Given the description of an element on the screen output the (x, y) to click on. 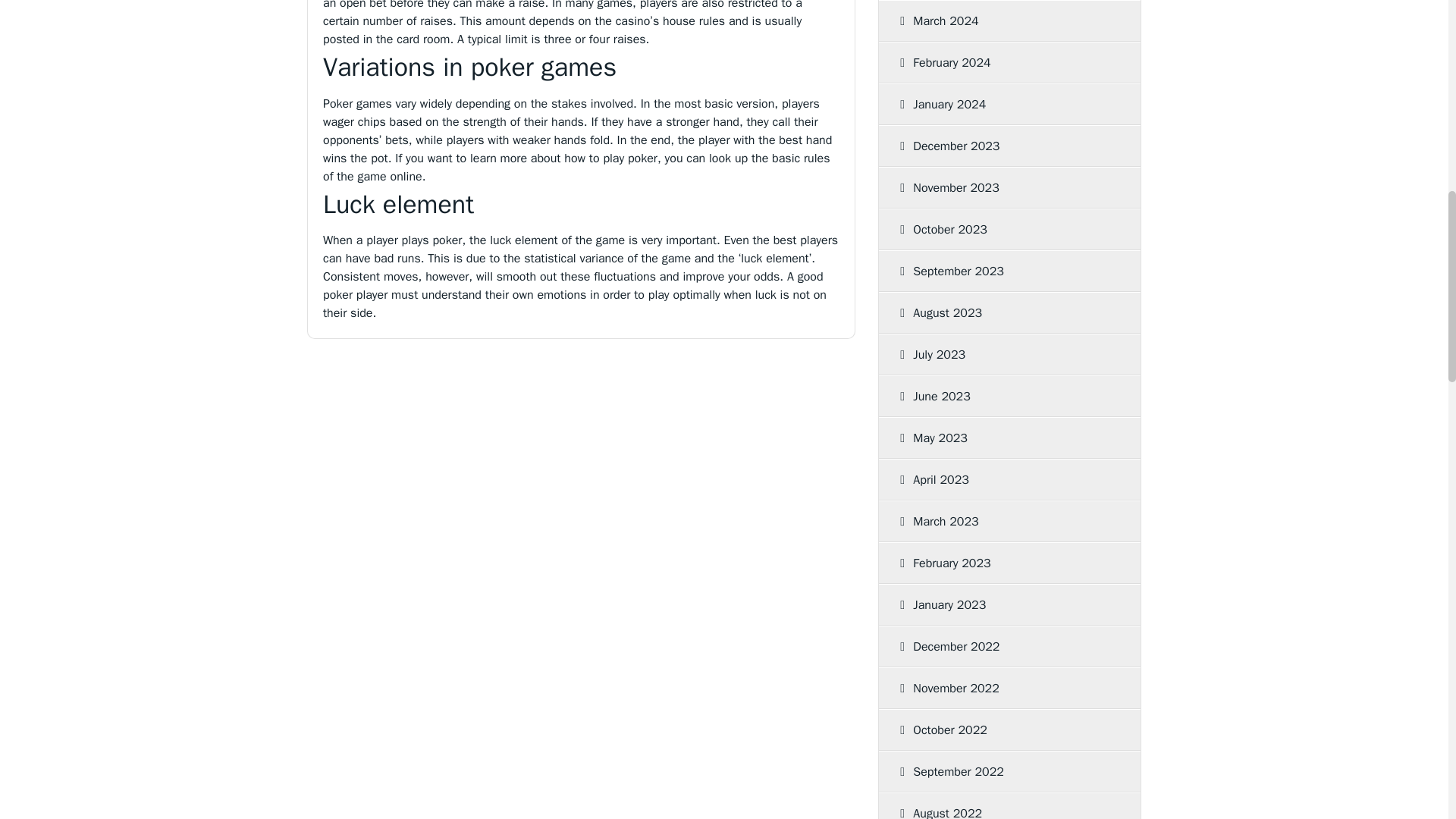
August 2023 (1004, 312)
May 2023 (1004, 437)
March 2024 (1004, 20)
February 2024 (1004, 62)
June 2023 (1004, 395)
July 2023 (1004, 354)
December 2023 (1004, 146)
January 2024 (1004, 104)
September 2023 (1004, 270)
October 2023 (1004, 229)
November 2023 (1004, 187)
